Given the description of an element on the screen output the (x, y) to click on. 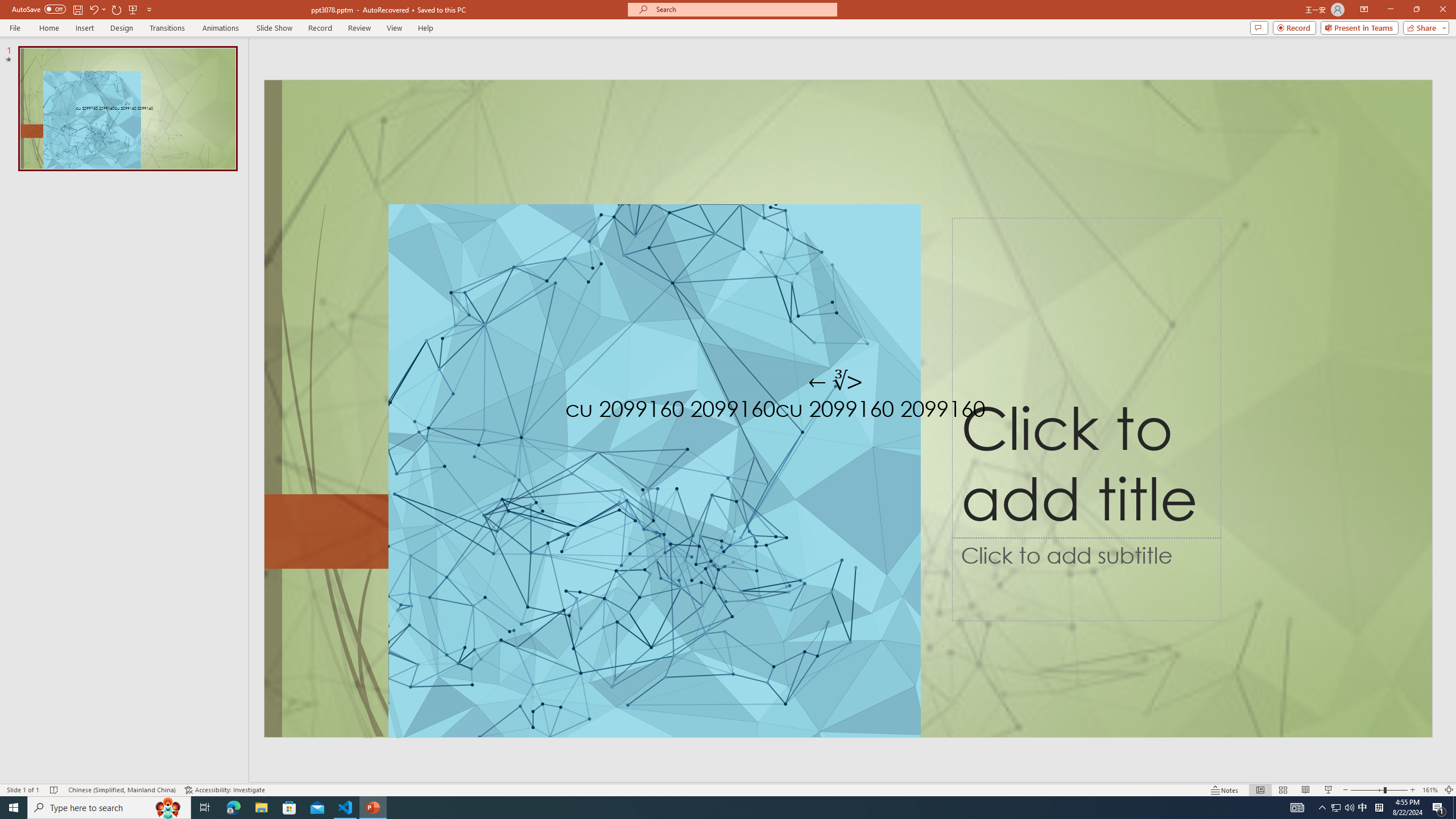
Zoom 161% (1430, 790)
